Given the description of an element on the screen output the (x, y) to click on. 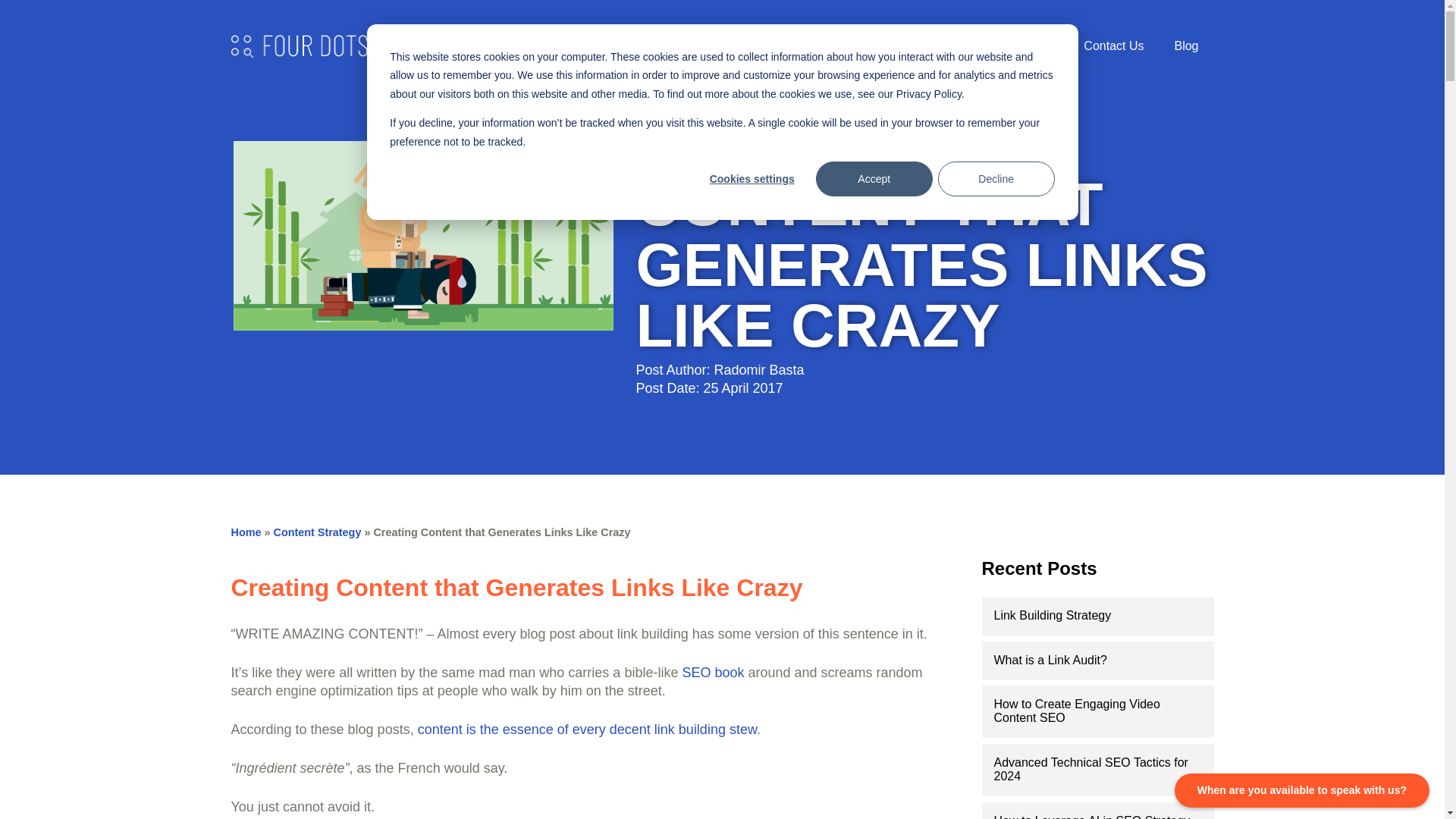
About Us (800, 45)
Case Studies (1017, 45)
Power SEO Tools (903, 45)
Creating Content that Generates Links Like Crazy 1 (422, 235)
Services (722, 45)
Contact Us (1113, 45)
Blog (1185, 45)
